Given the description of an element on the screen output the (x, y) to click on. 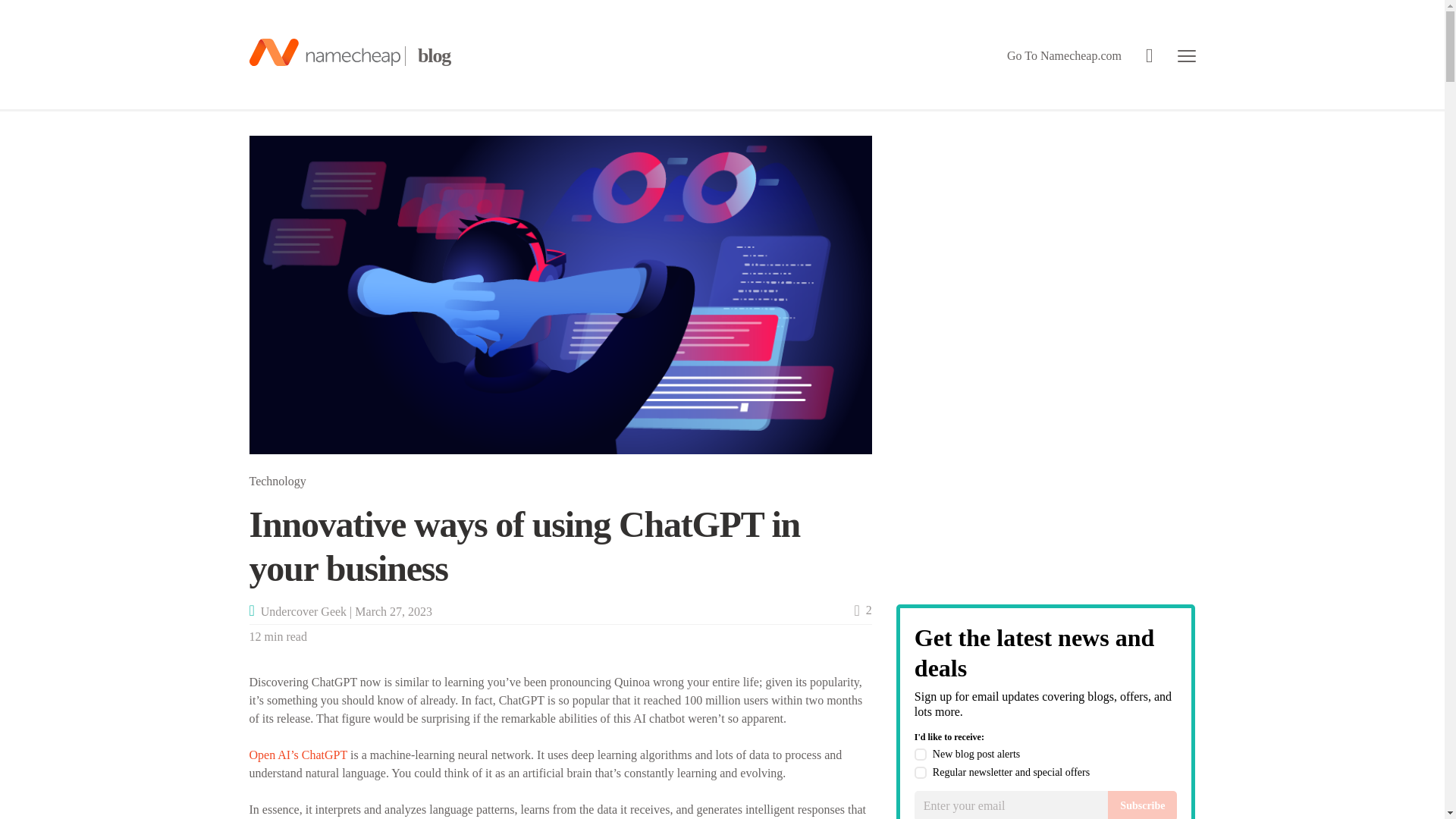
Go To Namecheap.com (1064, 55)
blog (348, 55)
Undercover Geek (303, 611)
Namecheap (348, 55)
Technology (276, 481)
